Given the description of an element on the screen output the (x, y) to click on. 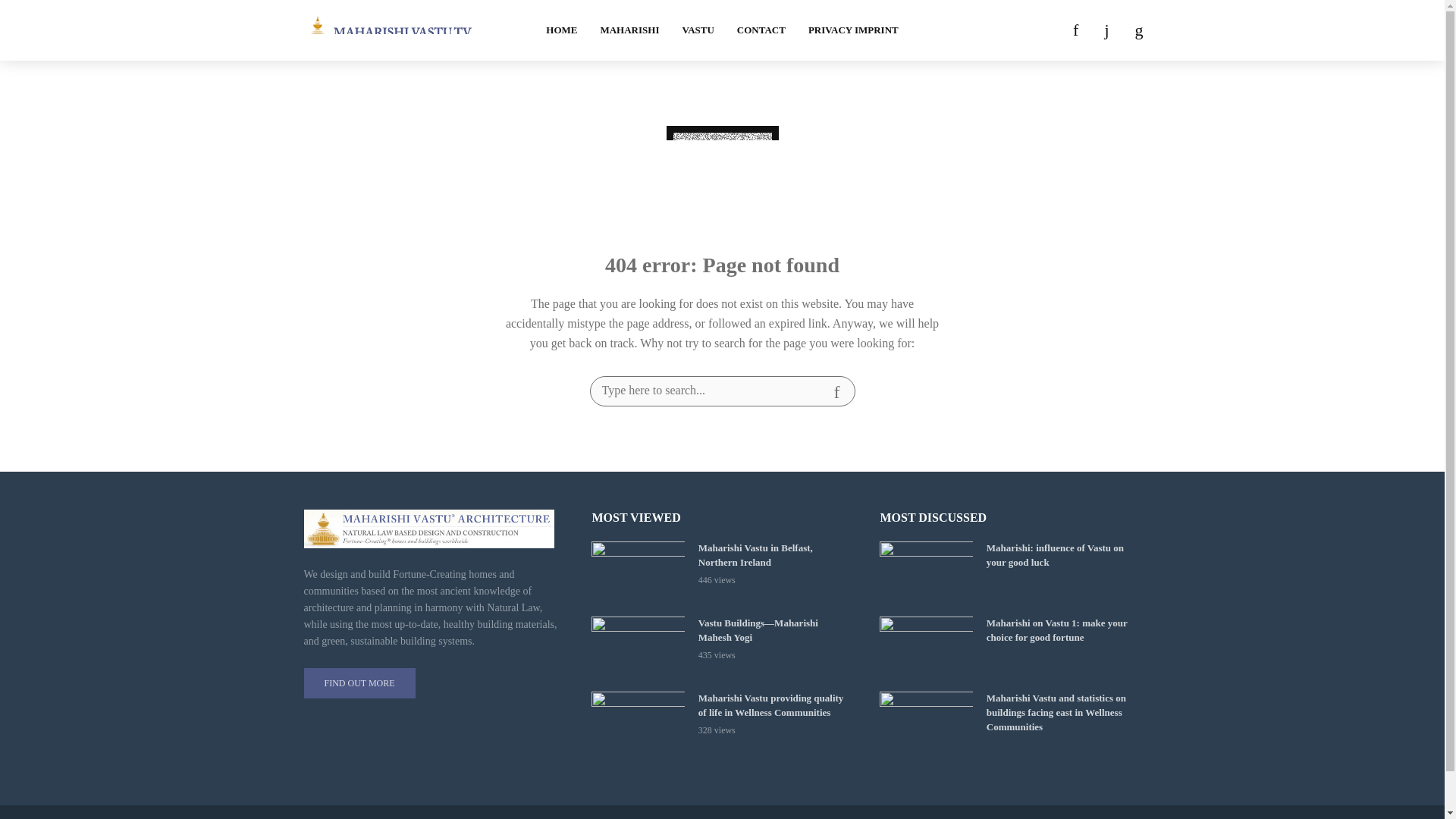
Maharishi: influence of Vastu on your good luck (925, 571)
PRIVACY IMPRINT (853, 30)
Maharishi Vastu in Belfast, Northern Ireland (775, 555)
HOME (561, 30)
FIND OUT MORE (358, 683)
Maharishi Vastu in Belfast, Northern Ireland (637, 571)
Maharishi on Vastu 1: make your choice for good fortune (925, 647)
VASTU (697, 30)
CONTACT (760, 30)
MAHARISHI (628, 30)
